Given the description of an element on the screen output the (x, y) to click on. 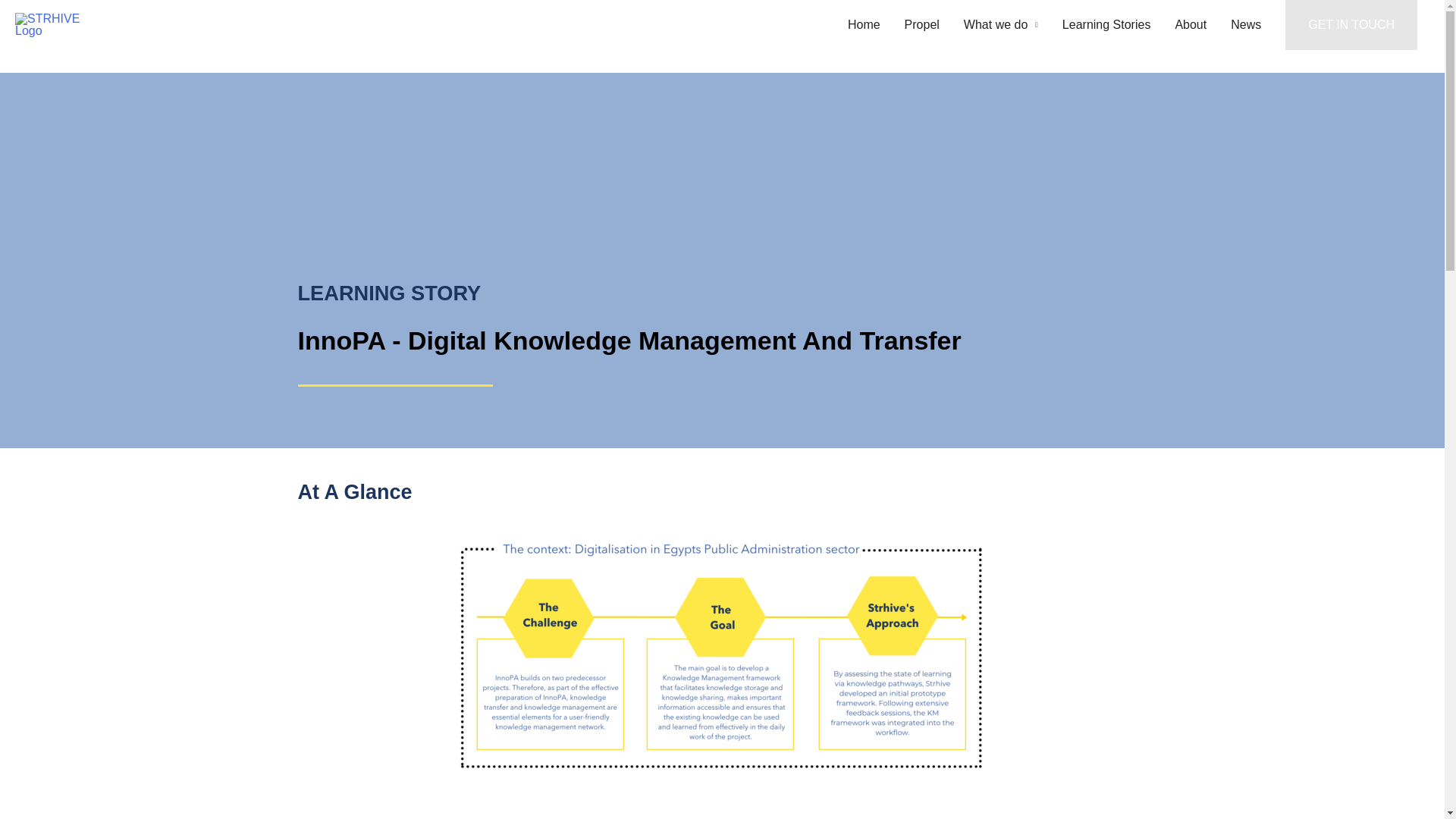
Learning Stories (1106, 24)
Home (863, 24)
GET IN TOUCH (1350, 24)
What we do (1000, 24)
About (1189, 24)
Propel (922, 24)
News (1245, 24)
Strhive (145, 24)
